Given the description of an element on the screen output the (x, y) to click on. 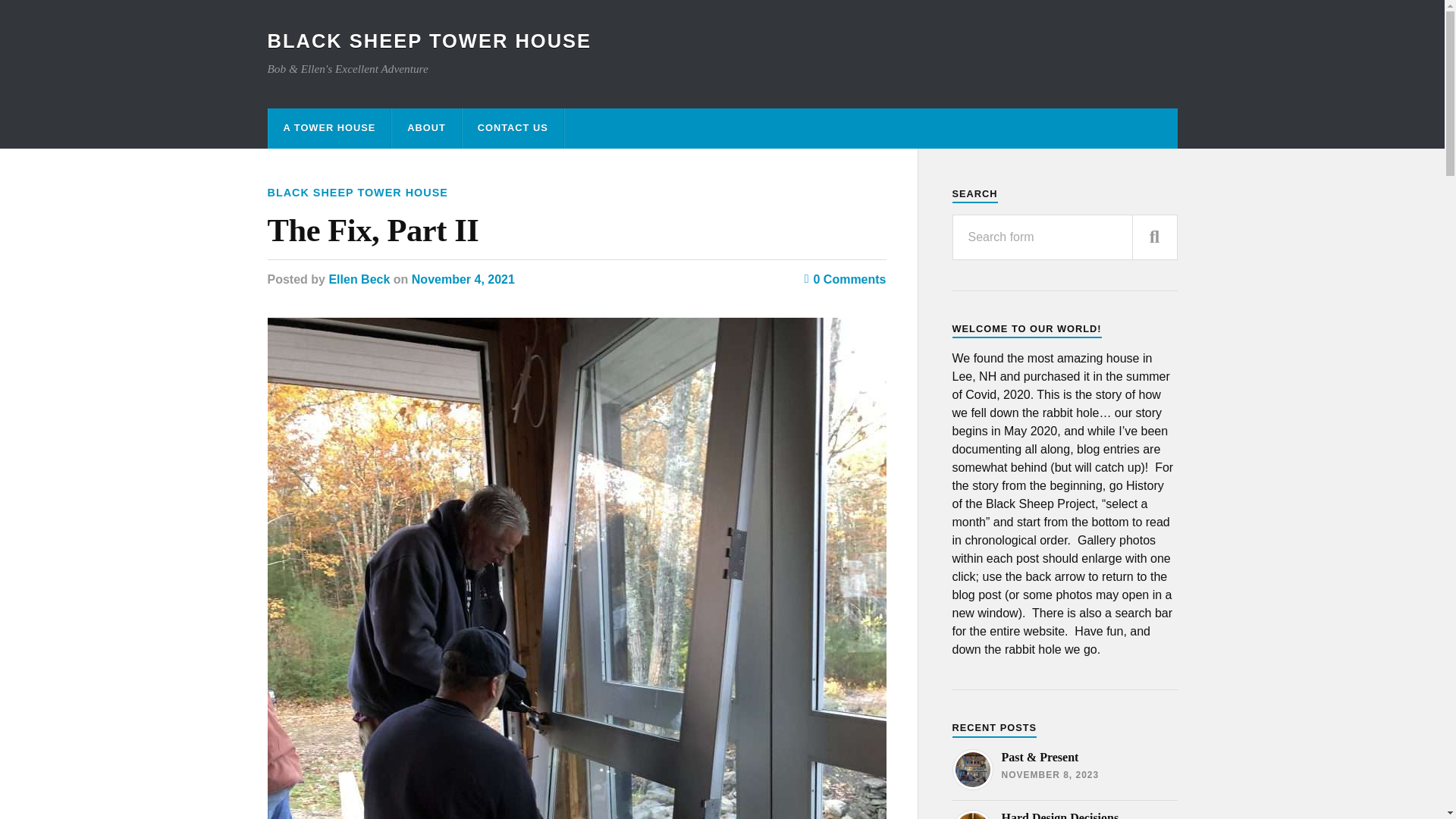
BLACK SHEEP TOWER HOUSE (428, 40)
0 Comments (845, 278)
November 4, 2021 (463, 278)
BLACK SHEEP TOWER HOUSE (356, 192)
CONTACT US (513, 128)
A TOWER HOUSE (329, 128)
Ellen Beck (359, 278)
ABOUT (426, 128)
